Given the description of an element on the screen output the (x, y) to click on. 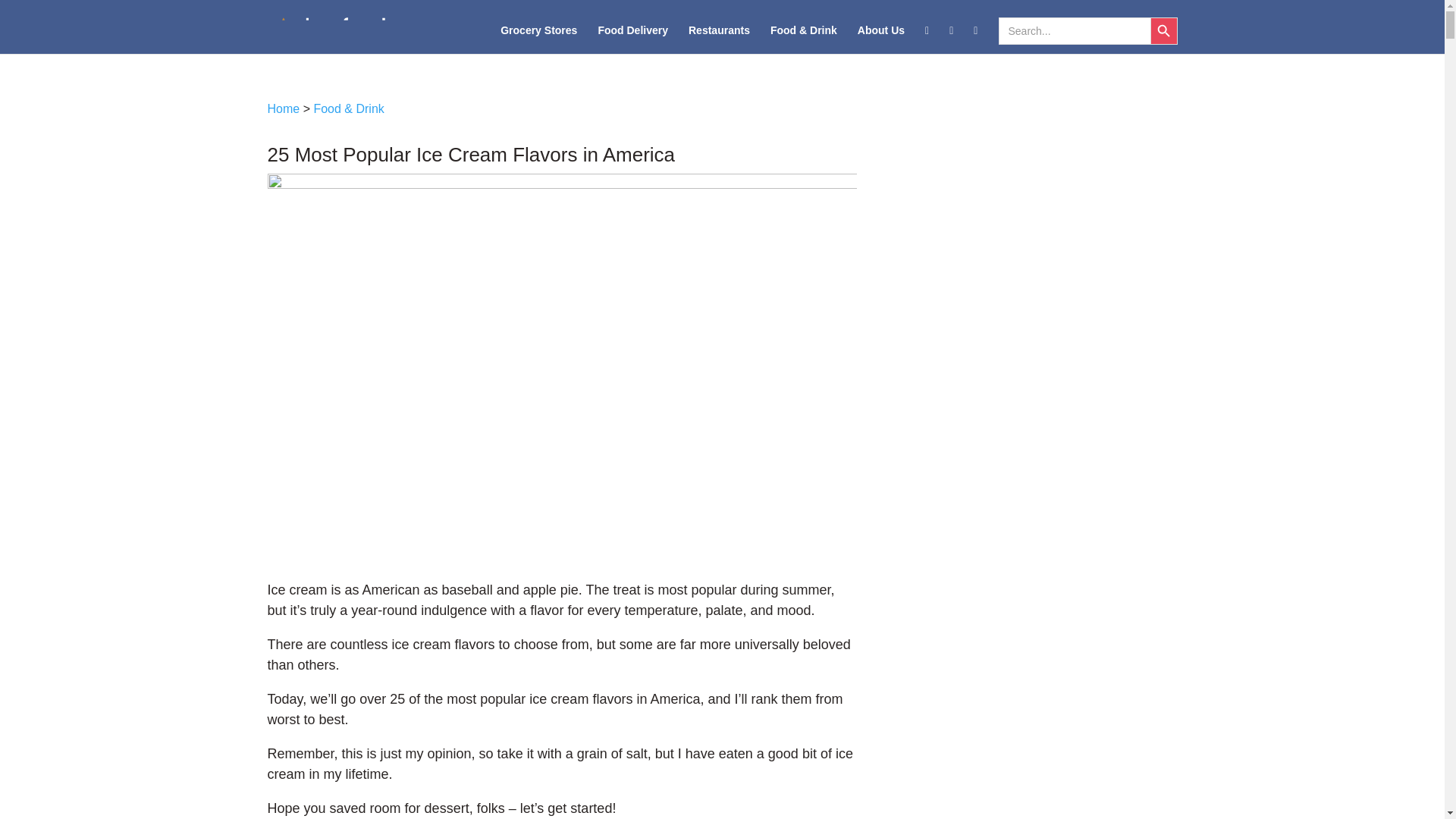
About Us (880, 39)
Home (282, 108)
Food Delivery (632, 39)
Restaurants (718, 39)
Search Button (1163, 31)
Grocery Stores (538, 39)
